Given the description of an element on the screen output the (x, y) to click on. 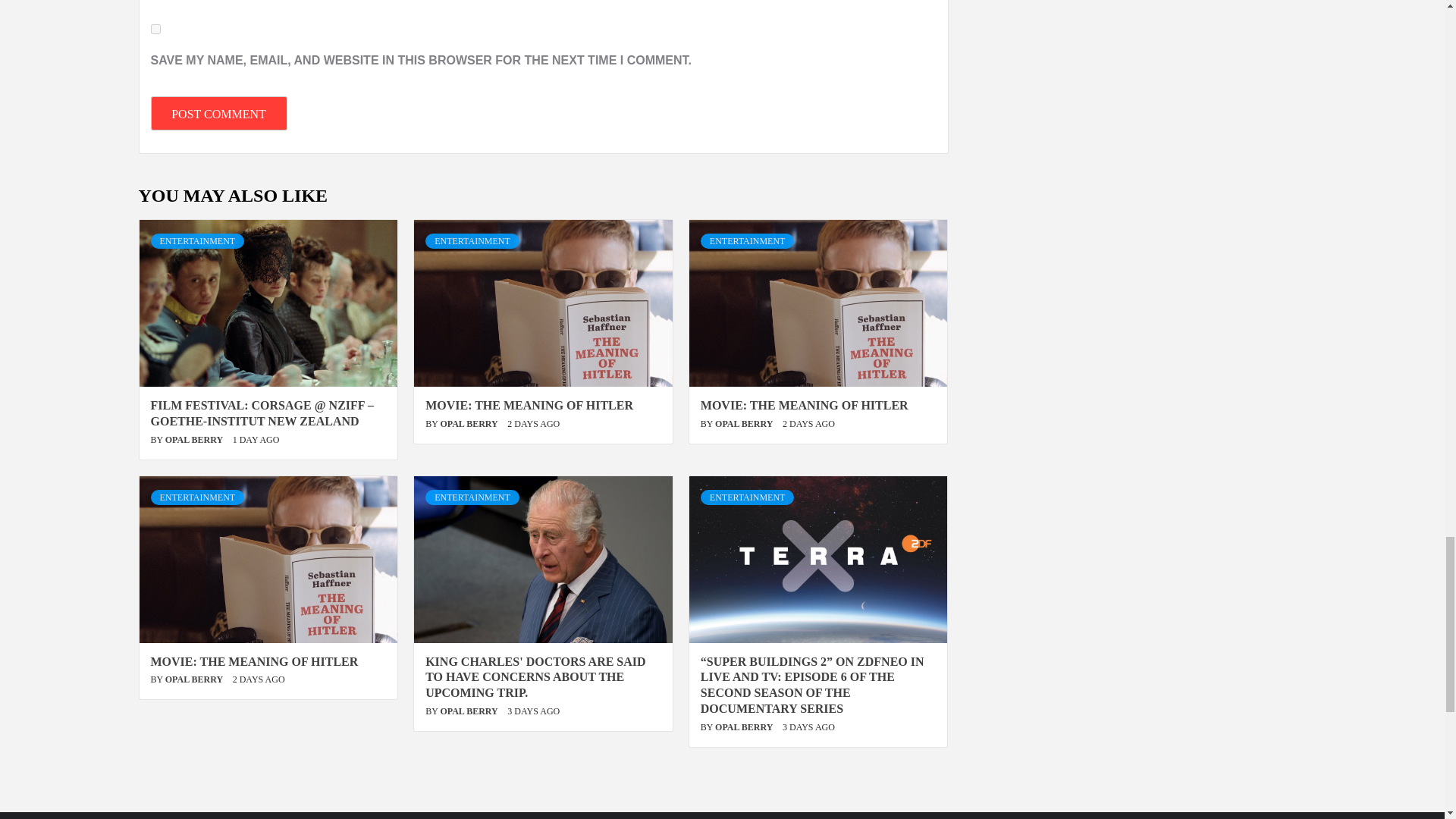
OPAL BERRY (469, 423)
Post Comment (217, 113)
Post Comment (217, 113)
OPAL BERRY (195, 439)
MOVIE: THE MEANING OF HITLER (804, 404)
ENTERTAINMENT (196, 240)
MOVIE: THE MEANING OF HITLER (529, 404)
ENTERTAINMENT (472, 240)
ENTERTAINMENT (747, 240)
